Given the description of an element on the screen output the (x, y) to click on. 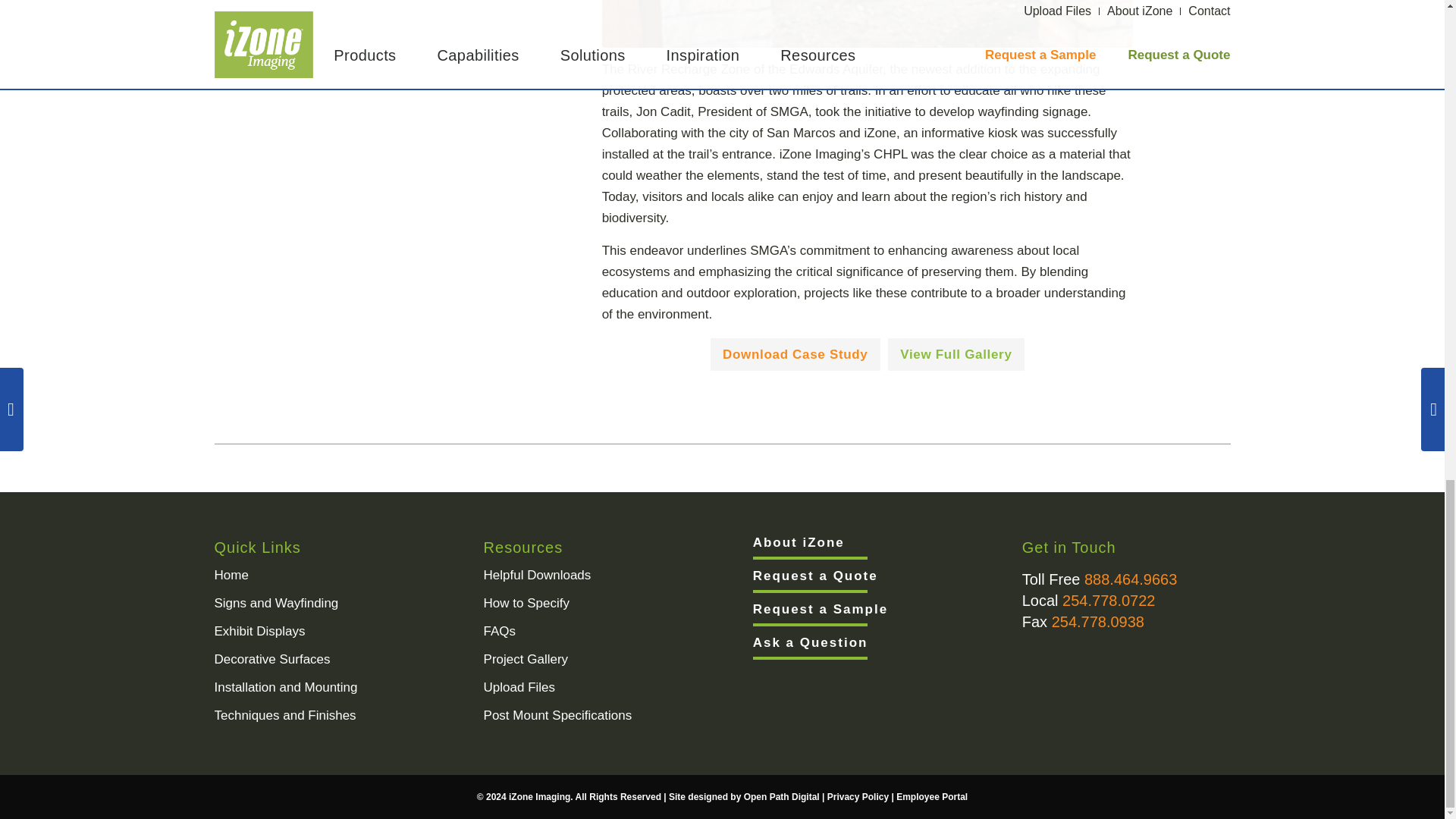
Download Case Study (794, 354)
greenbeltalliance5 (867, 23)
View Full Gallery (955, 354)
